Given the description of an element on the screen output the (x, y) to click on. 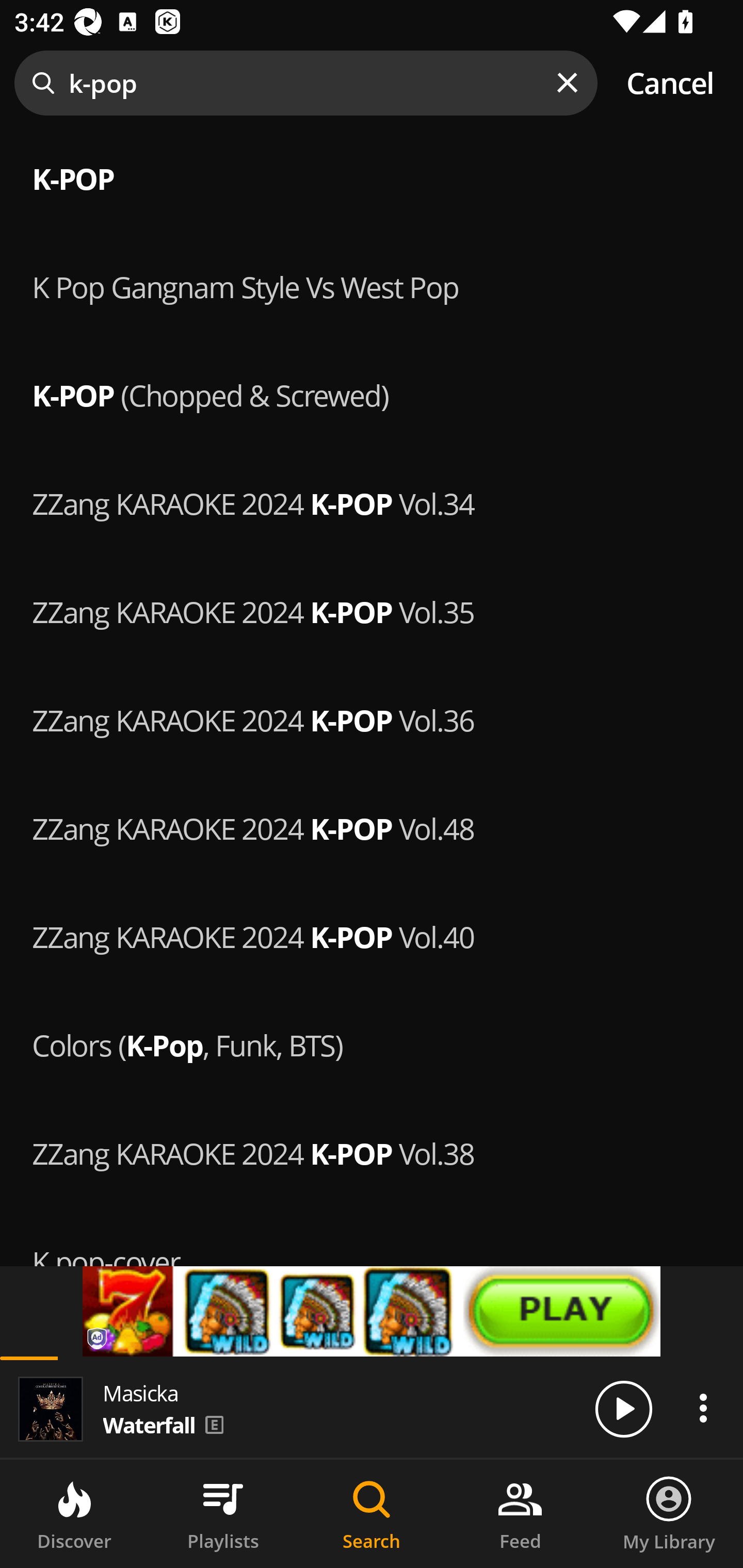
k-pop Cancel (371, 82)
Cancel (670, 82)
K-POP (371, 176)
K Pop Gangnam Style Vs West Pop (371, 284)
K-POP (Chopped & Screwed) (371, 393)
ZZang KARAOKE 2024 K-POP Vol.34 (371, 502)
ZZang KARAOKE 2024 K-POP Vol.35 (371, 610)
ZZang KARAOKE 2024 K-POP Vol.36 (371, 718)
ZZang KARAOKE 2024 K-POP Vol.48 (371, 827)
ZZang KARAOKE 2024 K-POP Vol.40 (371, 935)
Colors (K-Pop, Funk, BTS) (371, 1043)
ZZang KARAOKE 2024 K-POP Vol.38 (371, 1151)
fsc (371, 1311)
Liftoff Privacy (97, 1339)
Actions (703, 1407)
Play/Pause (623, 1408)
Discover (74, 1513)
Playlists (222, 1513)
Search (371, 1513)
Feed (519, 1513)
My Library (668, 1513)
